Given the description of an element on the screen output the (x, y) to click on. 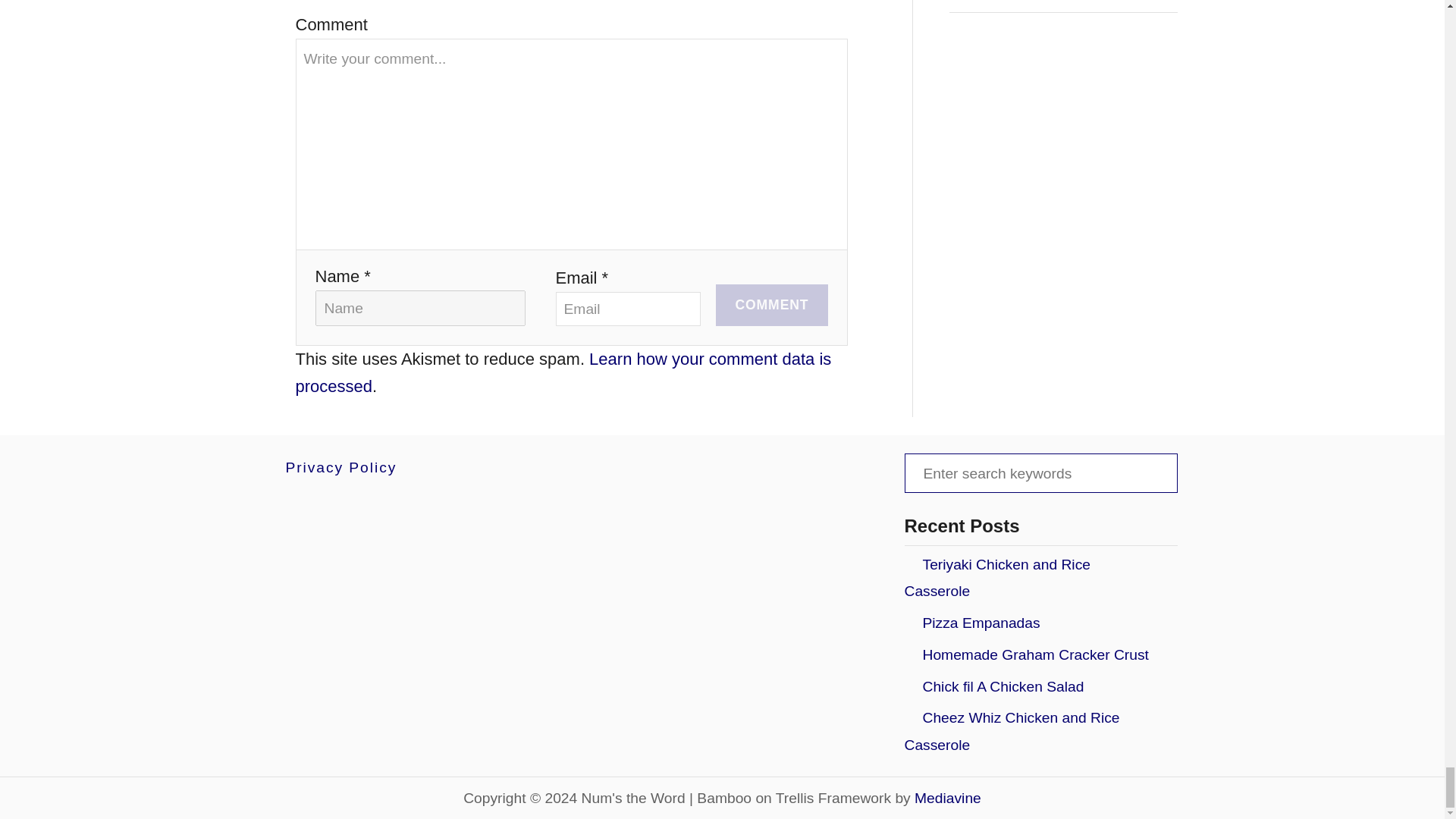
Search for: (1040, 473)
